Given the description of an element on the screen output the (x, y) to click on. 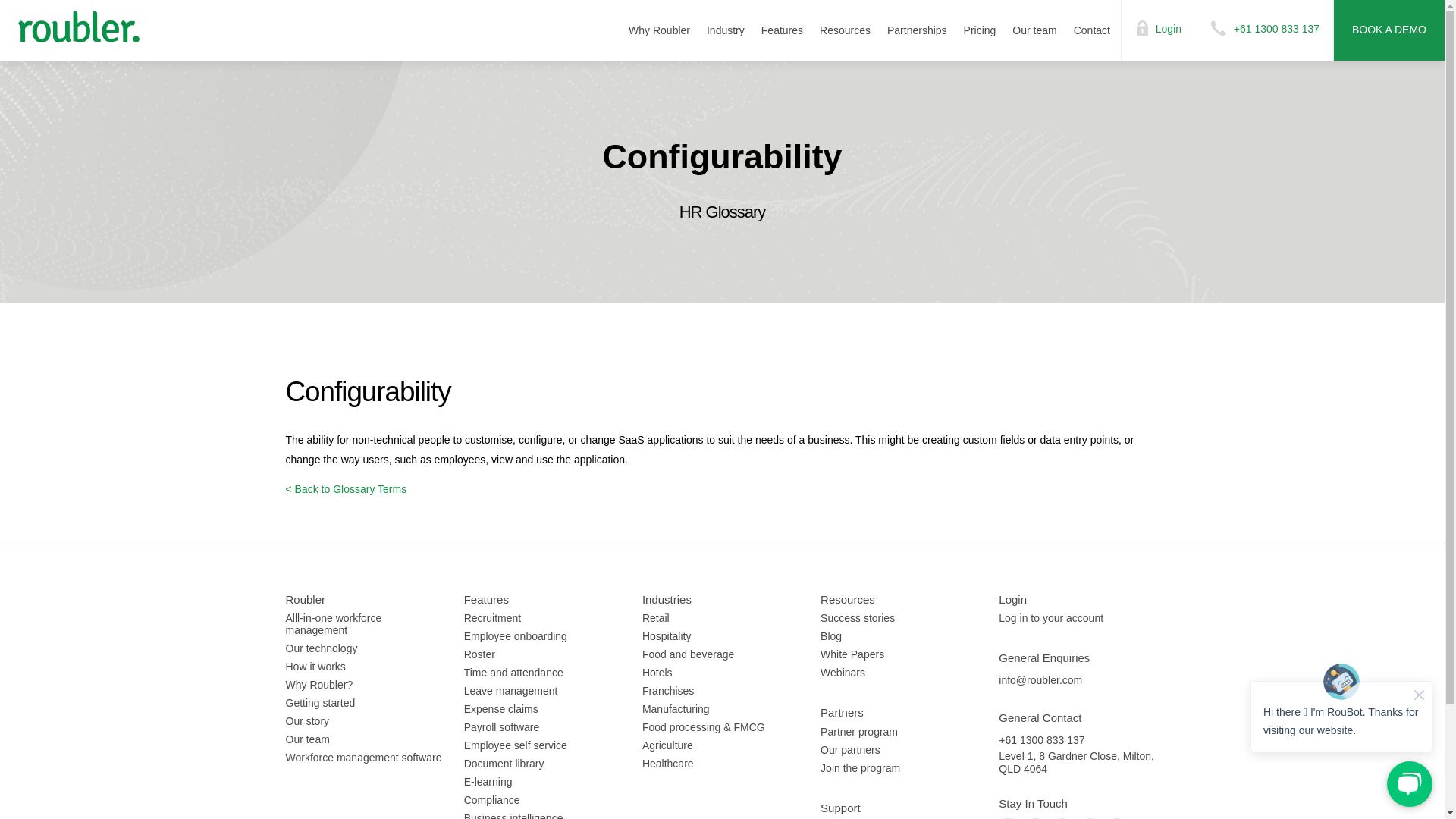
Chat Widget (1341, 734)
Why Roubler (659, 30)
Our team (1034, 30)
Resources (844, 30)
Partnerships (916, 30)
